Given the description of an element on the screen output the (x, y) to click on. 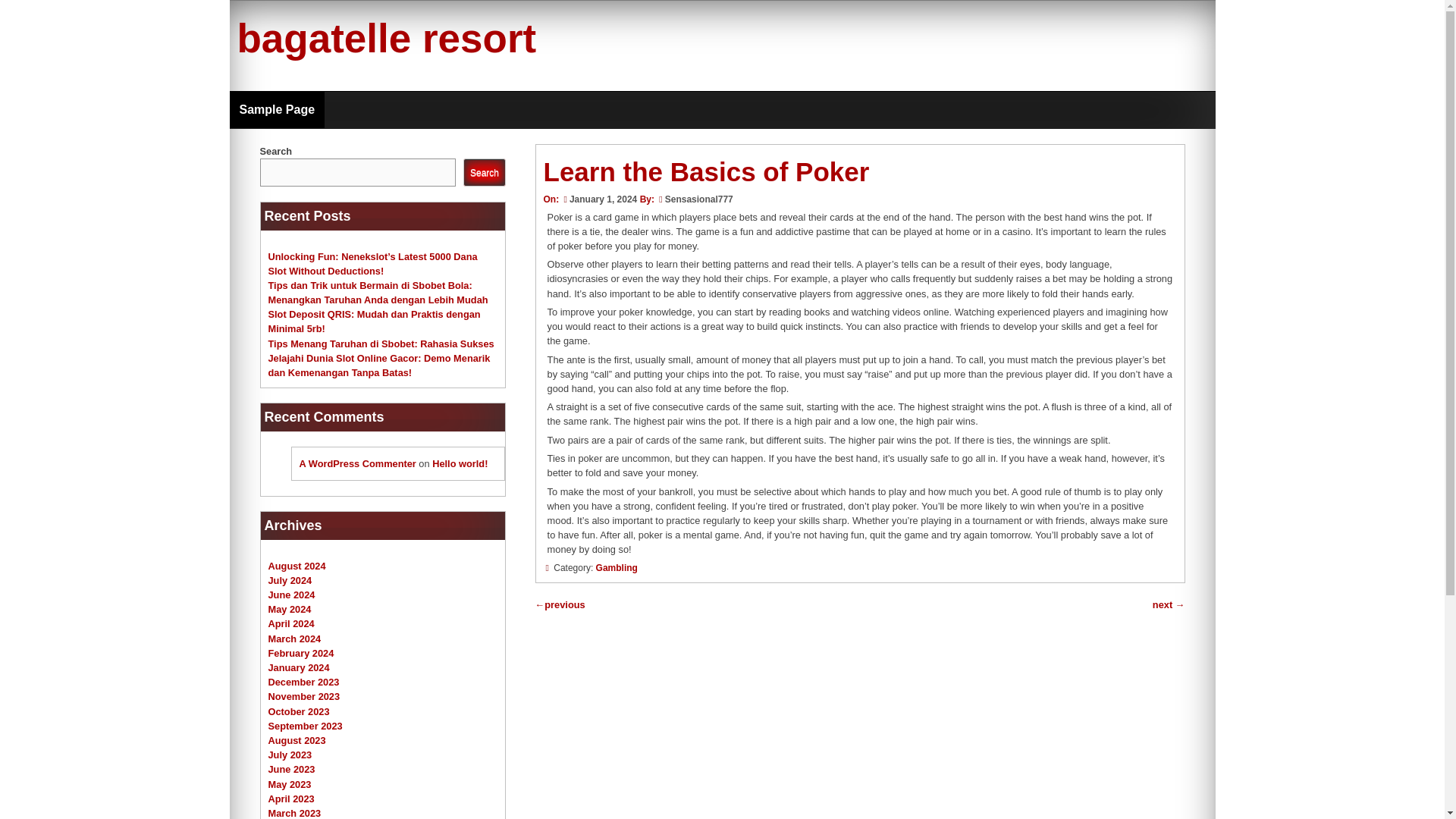
Gambling (616, 567)
July 2024 (290, 580)
April 2024 (290, 623)
June 2024 (291, 594)
February 2024 (300, 653)
Hello world! (459, 463)
January 2024 (298, 667)
June 2023 (291, 768)
Sensasional777 (699, 199)
